Given the description of an element on the screen output the (x, y) to click on. 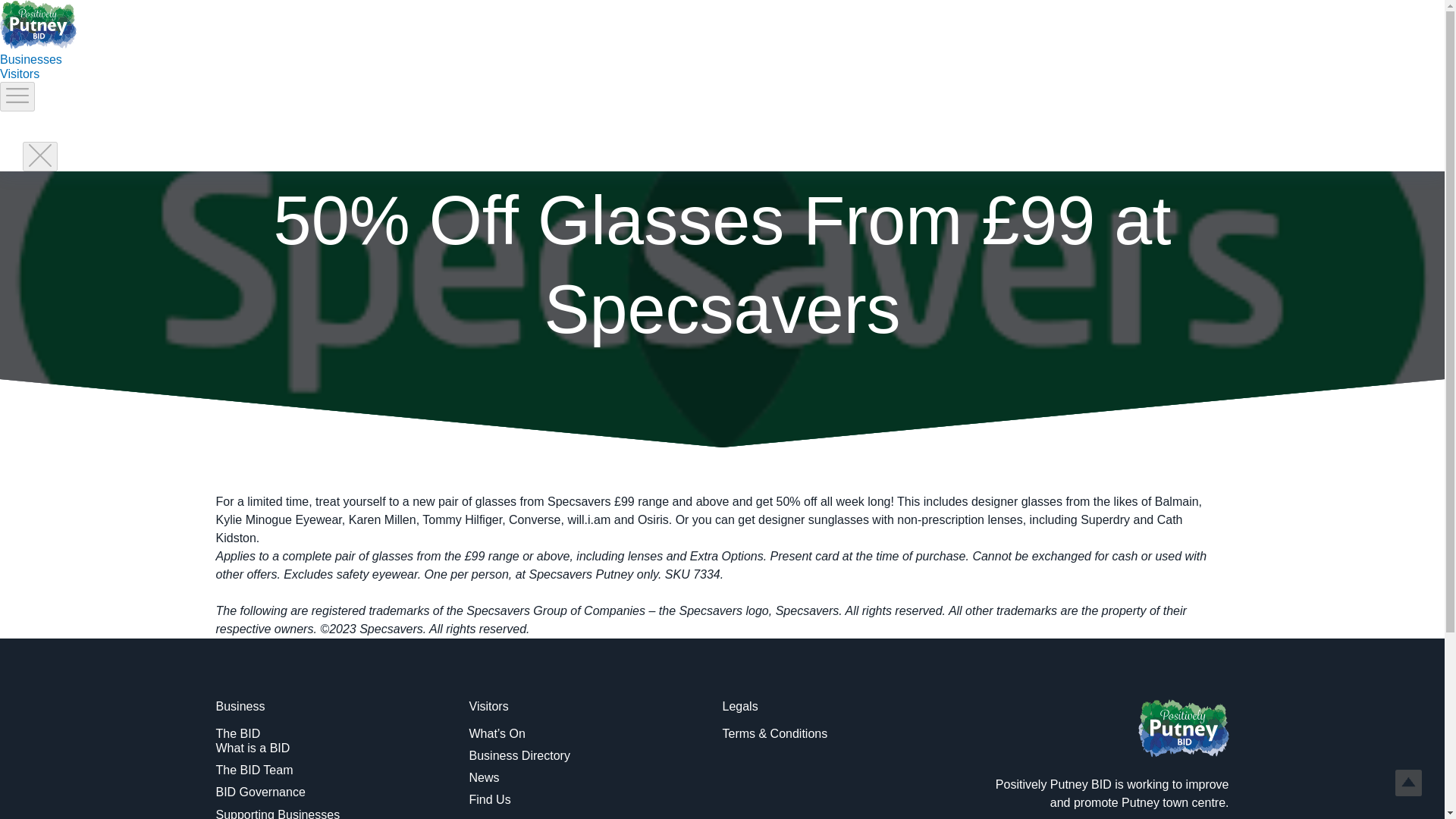
The BID (237, 733)
Supporting Businesses (277, 813)
The BID Team (253, 769)
What is a BID (252, 748)
Visitors (19, 73)
Find Us (489, 799)
News (483, 777)
Business Directory (518, 755)
Top (1408, 782)
Businesses (31, 59)
